Given the description of an element on the screen output the (x, y) to click on. 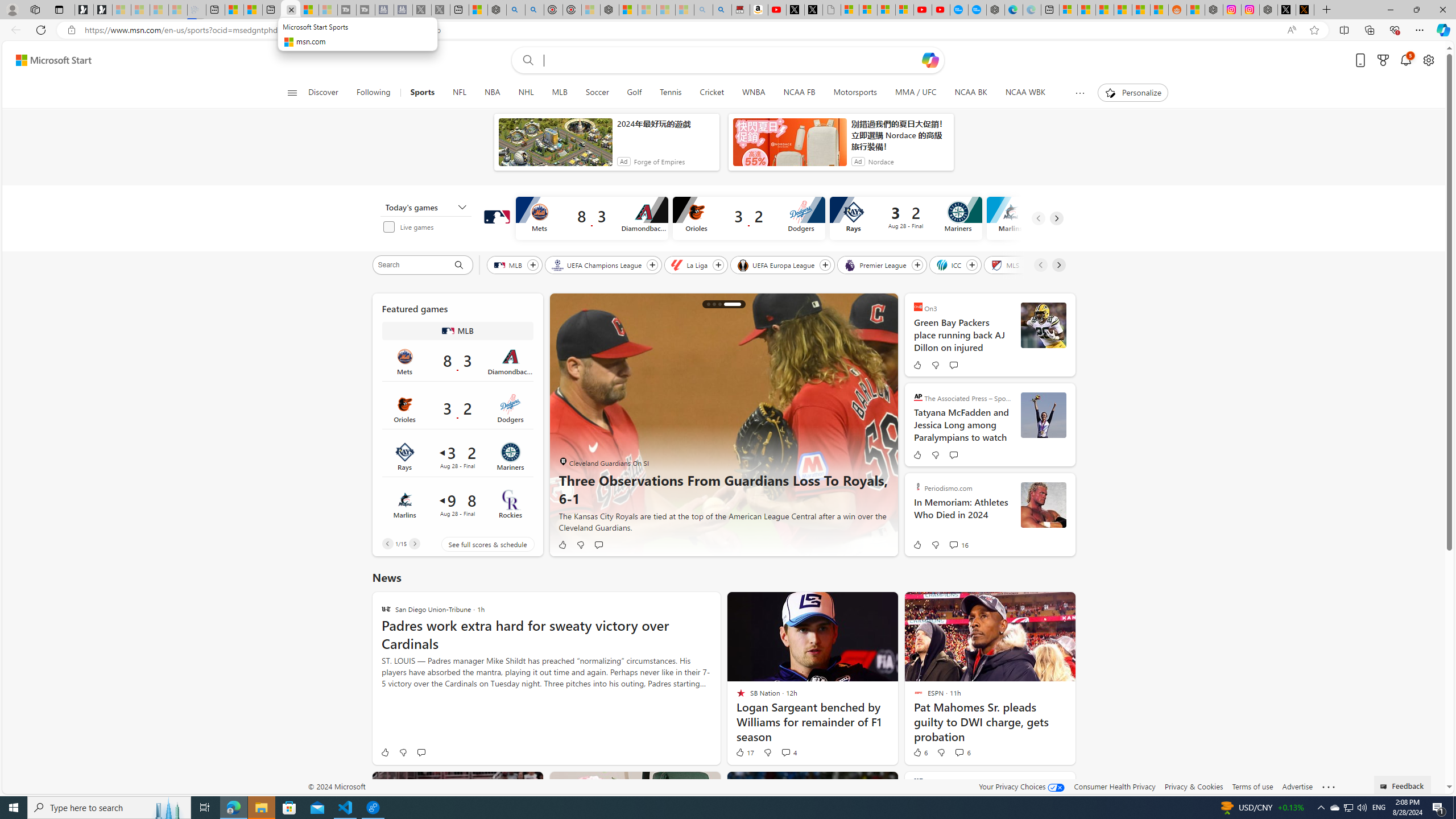
Shanghai, China hourly forecast | Microsoft Weather (1104, 9)
Previous (387, 543)
MMA / UFC (916, 92)
Golf (634, 92)
Open settings (1427, 60)
On3 (917, 306)
anim-content (789, 146)
